Given the description of an element on the screen output the (x, y) to click on. 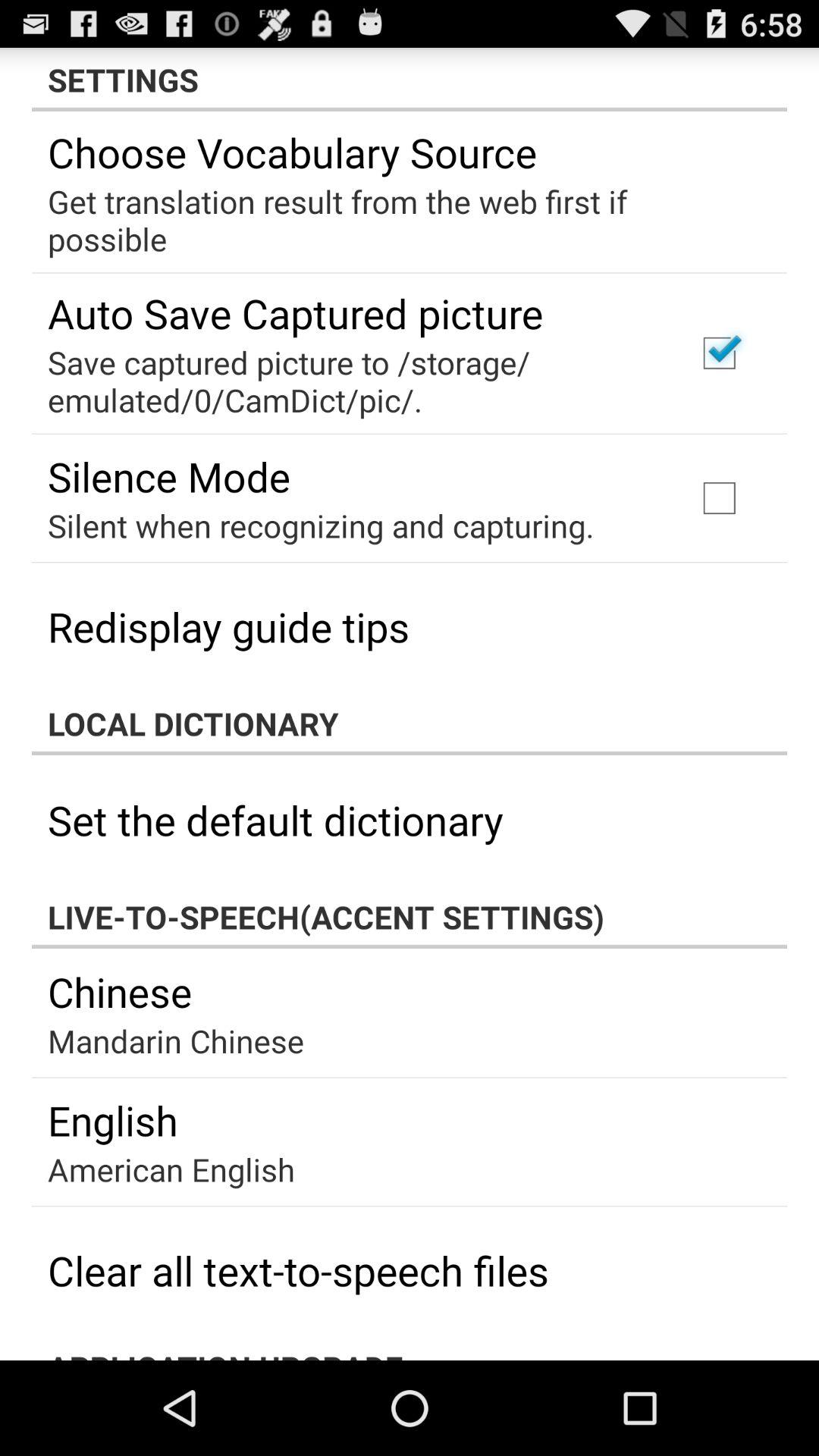
swipe to silent when recognizing app (320, 525)
